Given the description of an element on the screen output the (x, y) to click on. 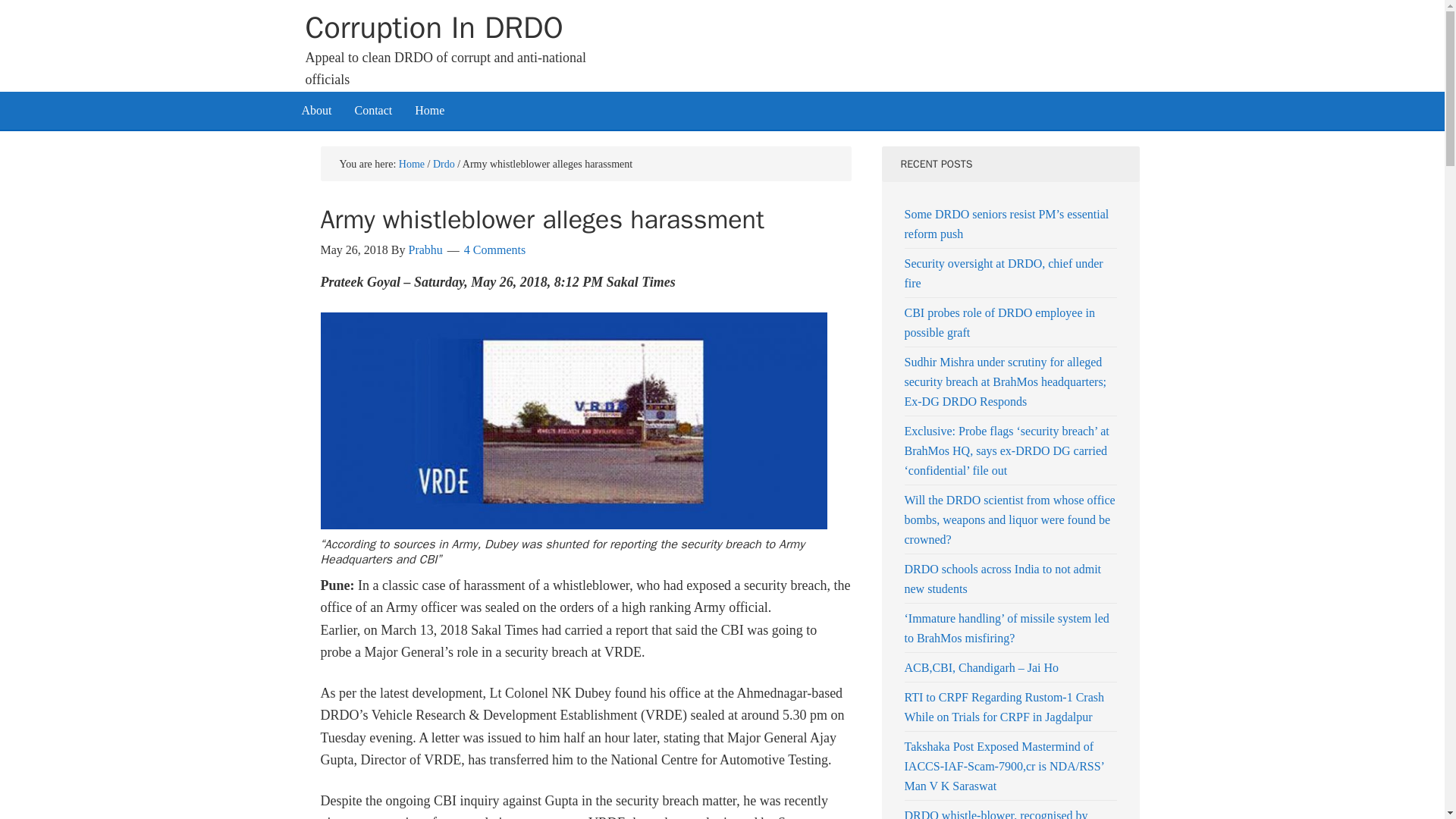
Home (429, 109)
About (315, 109)
Drdo (443, 163)
Security oversight at DRDO, chief under fire (1003, 273)
4 Comments (494, 249)
Contact (372, 109)
Home (411, 163)
Corruption In DRDO (433, 27)
CBI probes role of DRDO employee in possible graft (999, 322)
Prabhu (424, 249)
DRDO schools across India to not admit new students (1002, 578)
